Given the description of an element on the screen output the (x, y) to click on. 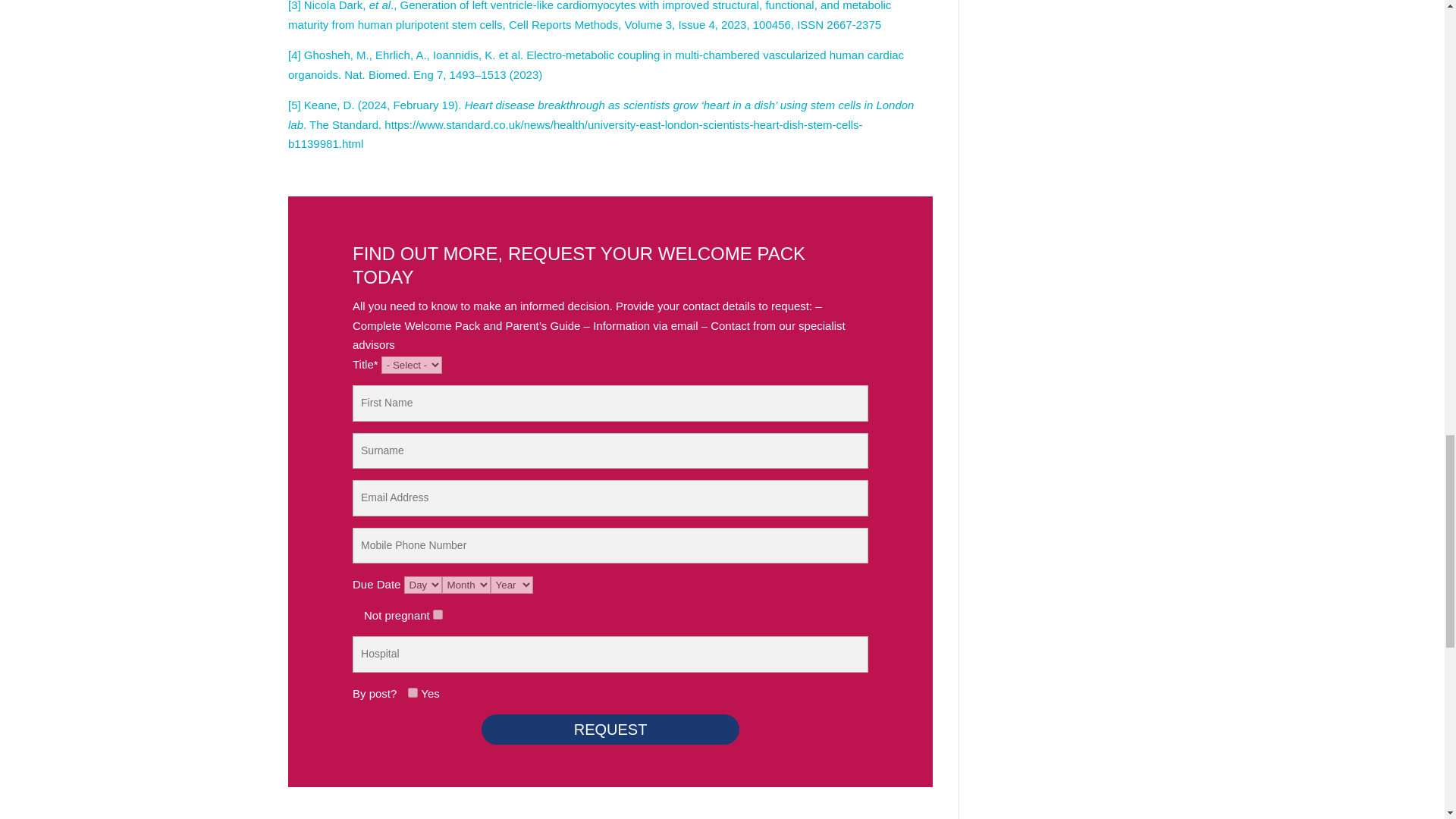
Not pregnant (437, 614)
REQUEST (610, 729)
Yes (412, 692)
